Given the description of an element on the screen output the (x, y) to click on. 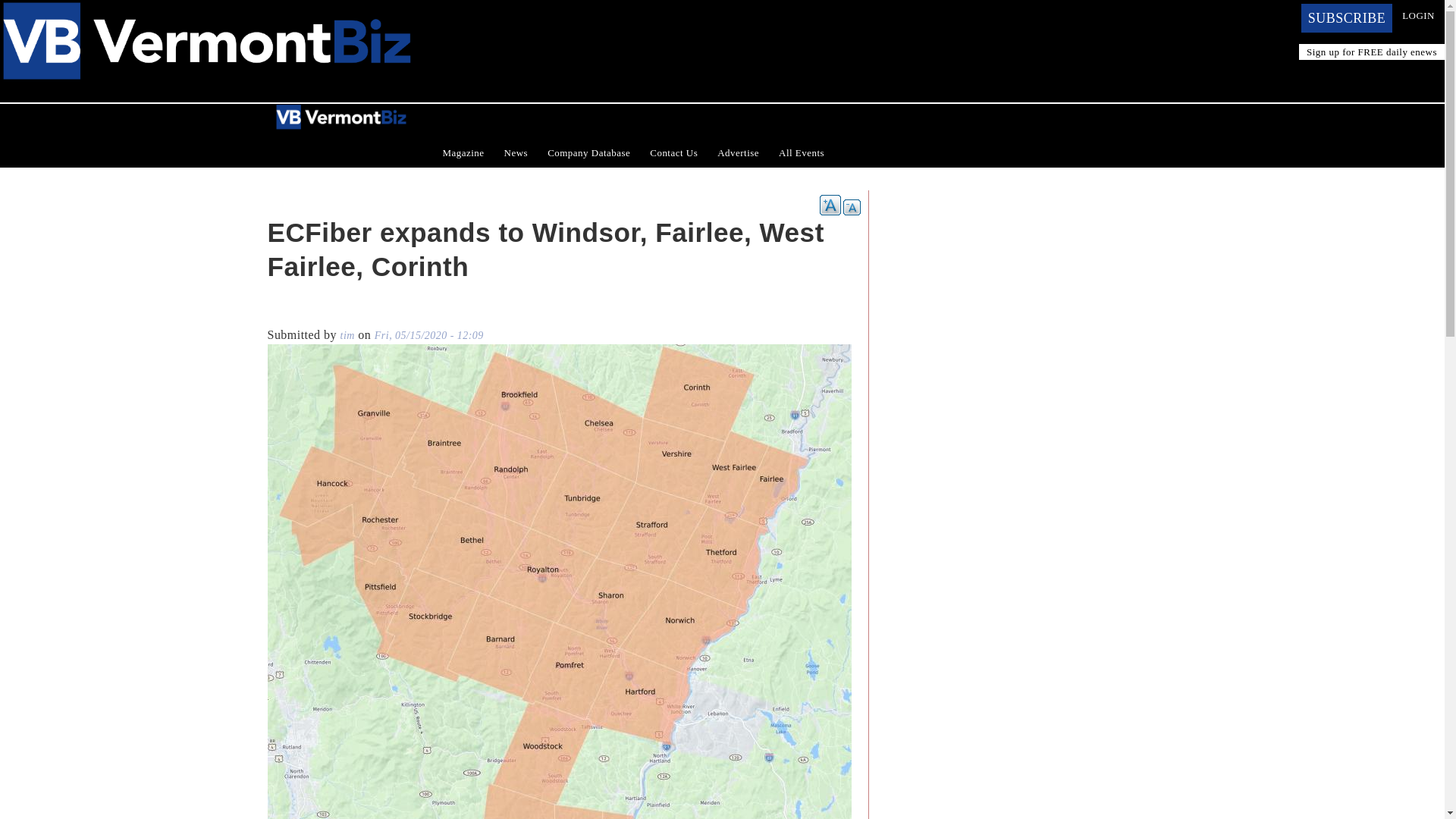
A (851, 207)
All Events (801, 152)
Advertise (737, 152)
A (830, 204)
Share to Linkedin (320, 312)
Share to Facebook (277, 312)
Contact Us (673, 152)
SUBSCRIBE (1346, 18)
Friday, May 15, 2020 - 12:09 (428, 335)
News (516, 152)
